Given the description of an element on the screen output the (x, y) to click on. 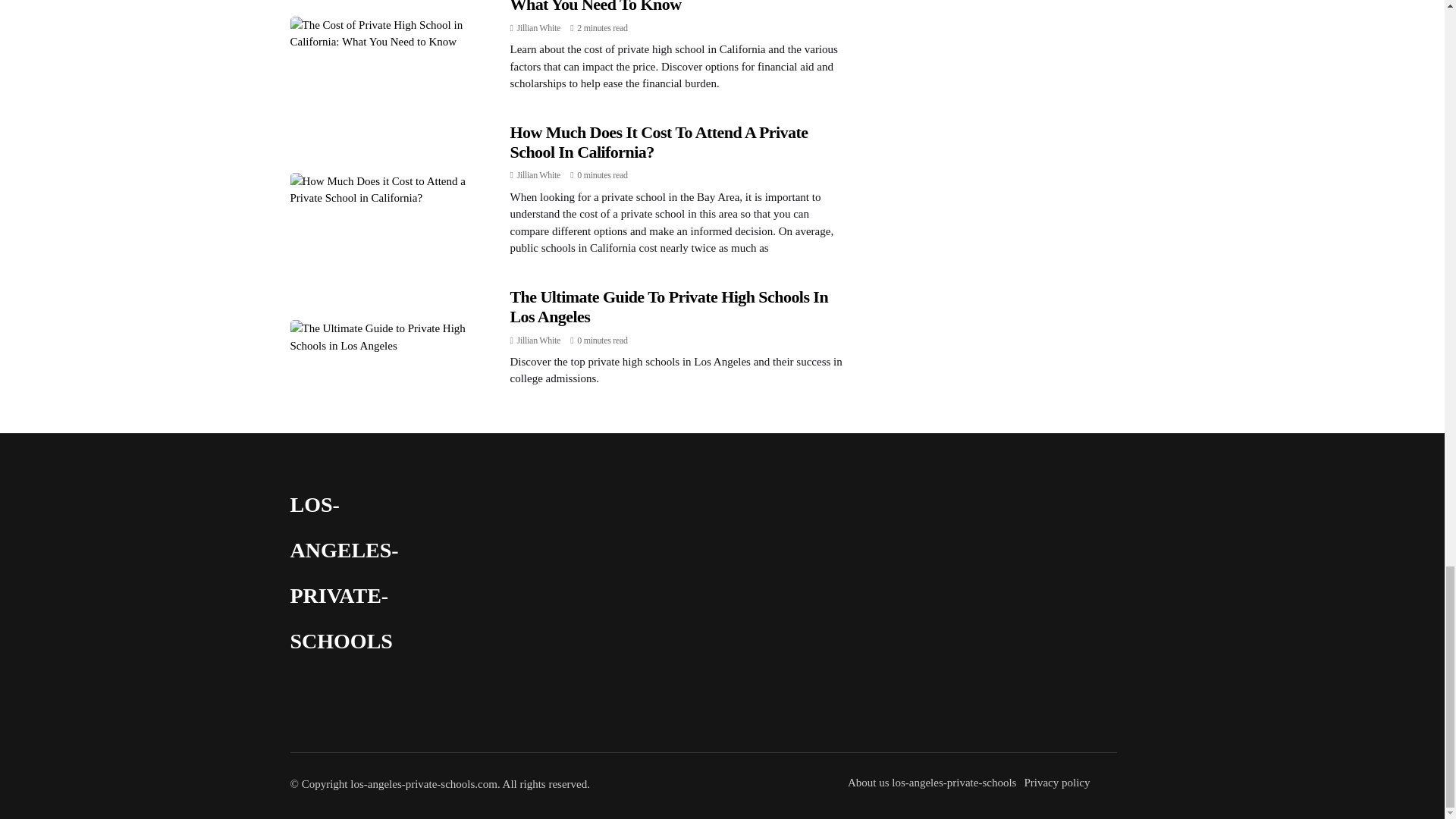
Posts by Jillian White (538, 174)
Posts by Jillian White (538, 339)
Jillian White (538, 27)
The Ultimate Guide To Private High Schools In Los Angeles (668, 306)
Jillian White (538, 339)
Jillian White (538, 174)
Posts by Jillian White (538, 27)
